Given the description of an element on the screen output the (x, y) to click on. 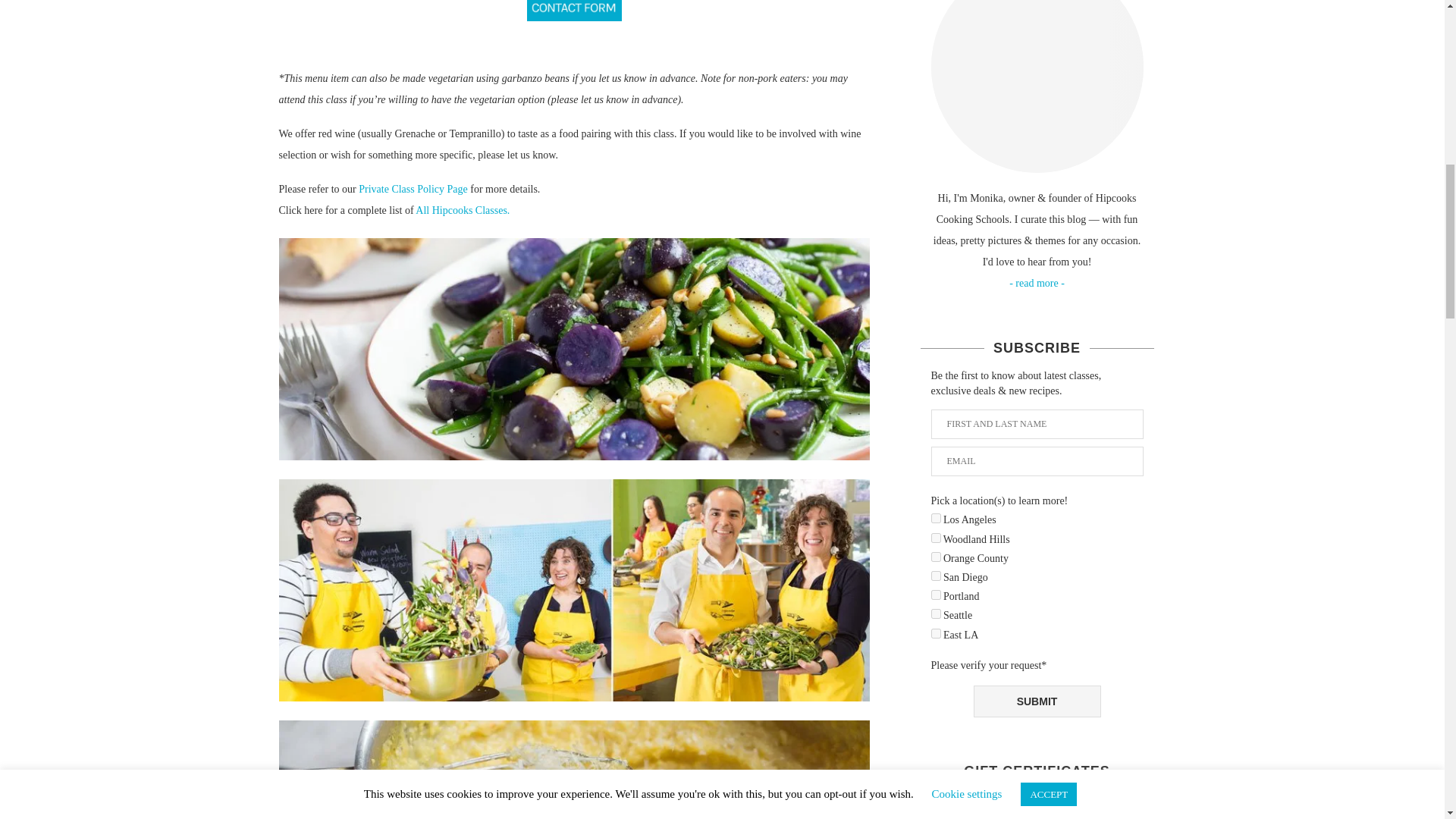
Orange County (935, 556)
San Diego (935, 575)
Woodland Hills (935, 537)
Los Angeles (935, 518)
Portland (935, 594)
Seattle (935, 614)
East LA (935, 633)
